Given the description of an element on the screen output the (x, y) to click on. 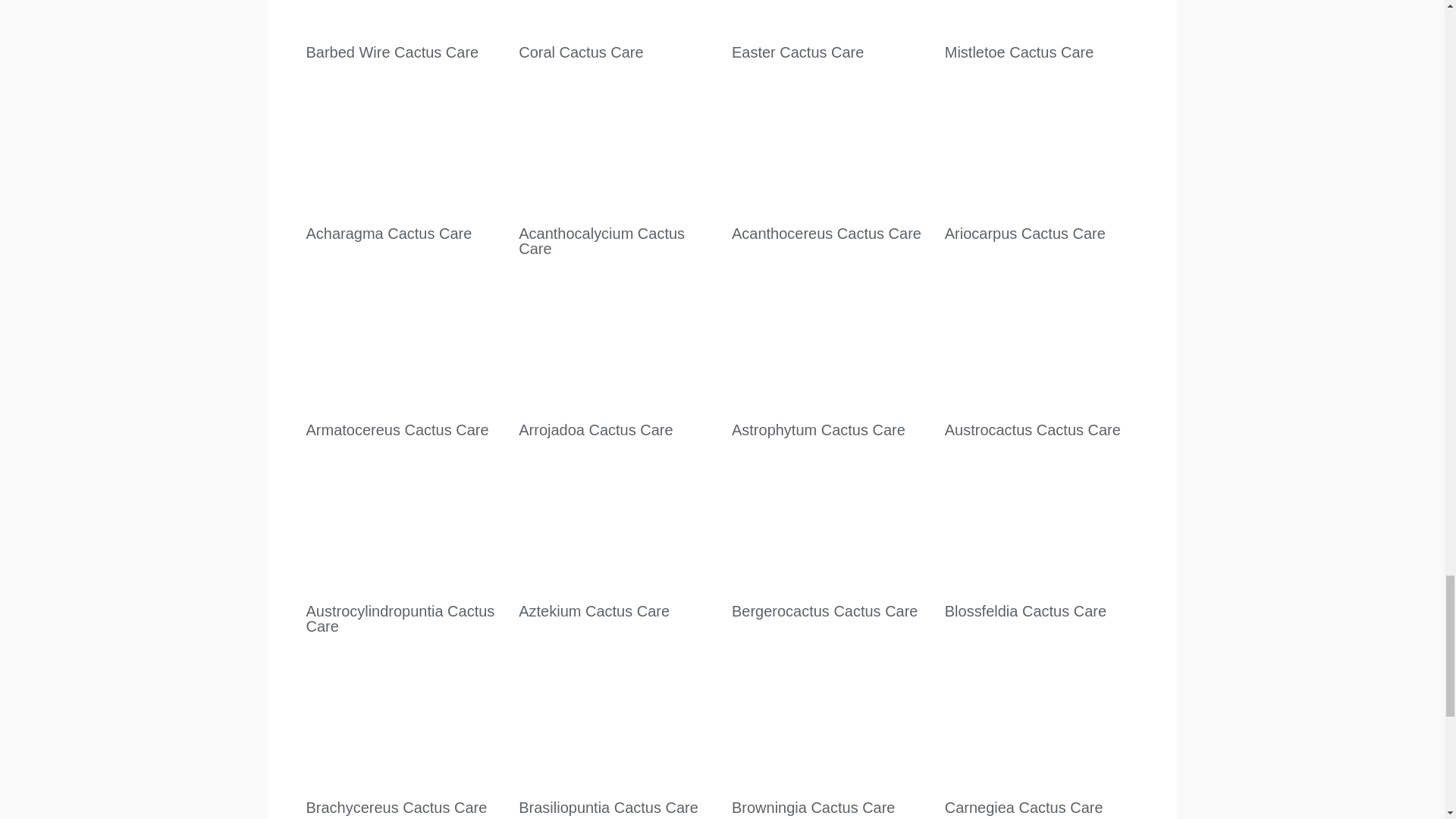
Barbed Wire Cactus Care (392, 52)
Coral Cactus Care (580, 52)
Mistletoe Cactus Care (1019, 52)
Easter Cactus Care (797, 52)
